Given the description of an element on the screen output the (x, y) to click on. 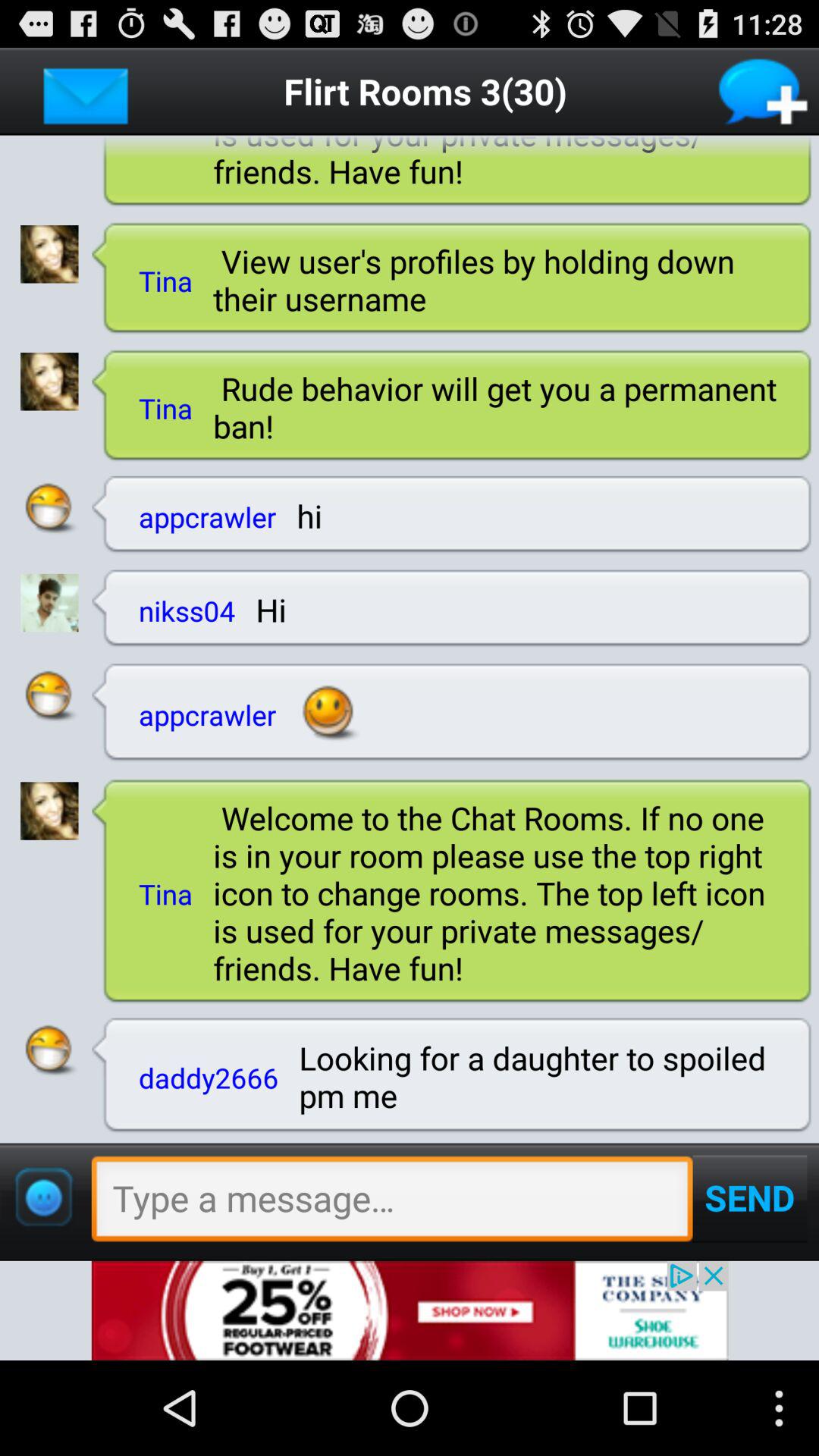
open profile page (49, 811)
